Given the description of an element on the screen output the (x, y) to click on. 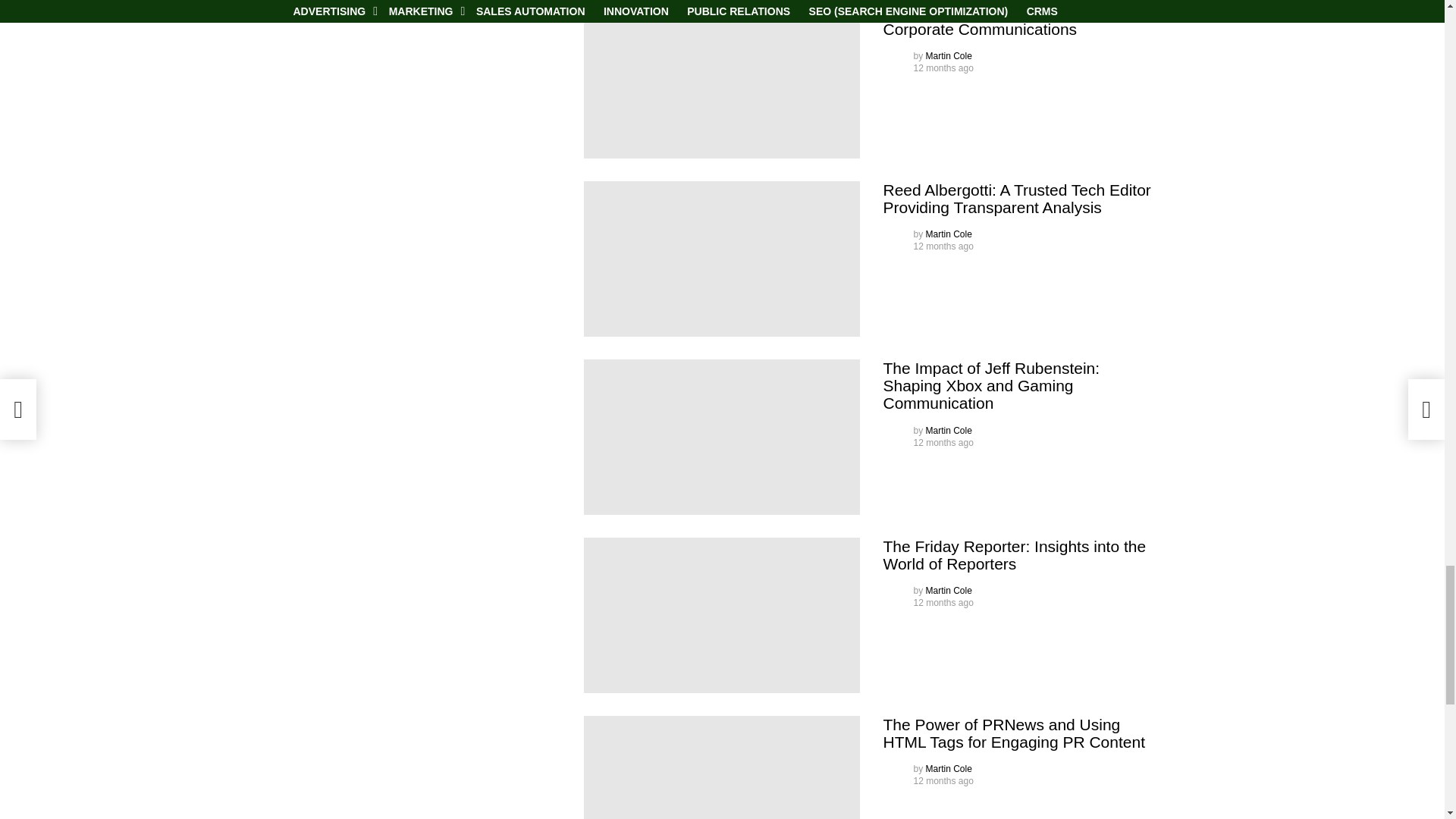
Renee Robinson: Shaping Effective Corporate Communications (721, 80)
Posts by Martin Cole (949, 55)
August 1, 2023, 9:26 pm (942, 68)
